Given the description of an element on the screen output the (x, y) to click on. 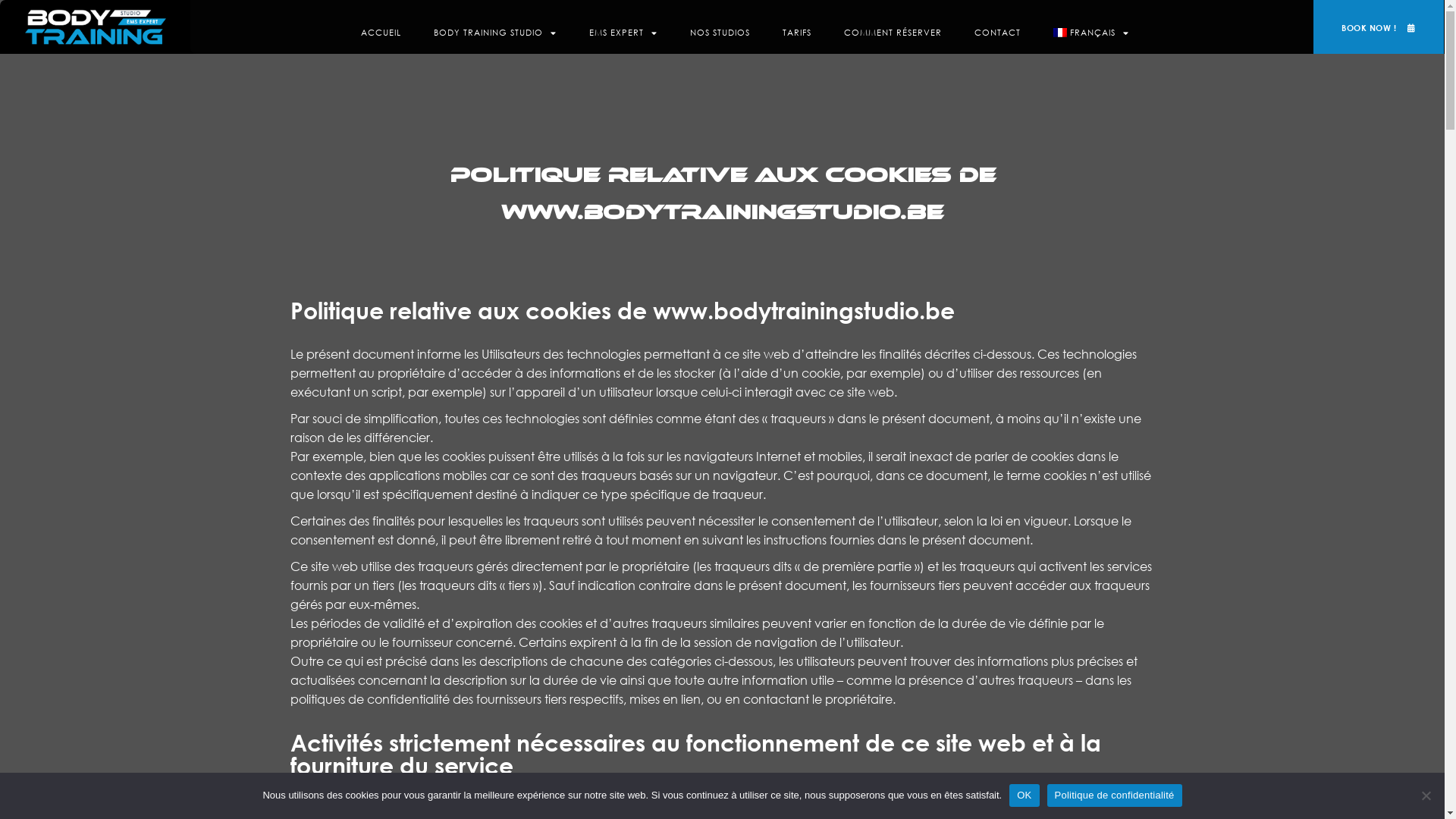
OK Element type: text (1023, 795)
ACCUEIL Element type: text (380, 32)
CONTACT Element type: text (997, 32)
TARIFS Element type: text (796, 32)
Non Element type: hover (1425, 795)
NOS STUDIOS Element type: text (719, 32)
BODY TRAINING STUDIO Element type: text (494, 32)
BOOK NOW ! Element type: text (1378, 27)
EMS EXPERT Element type: text (622, 32)
